Given the description of an element on the screen output the (x, y) to click on. 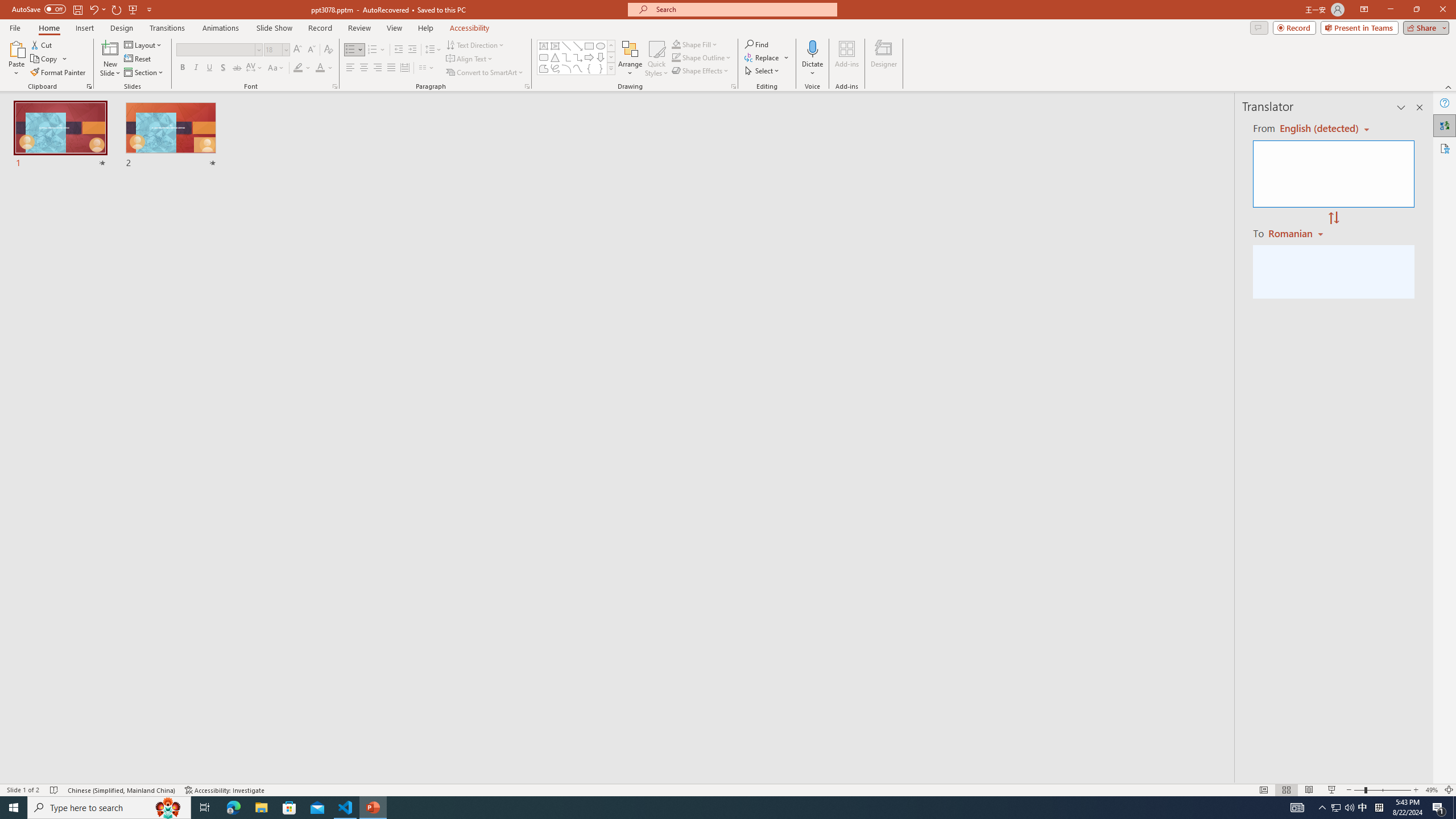
Swap "from" and "to" languages. (1333, 218)
